Given the description of an element on the screen output the (x, y) to click on. 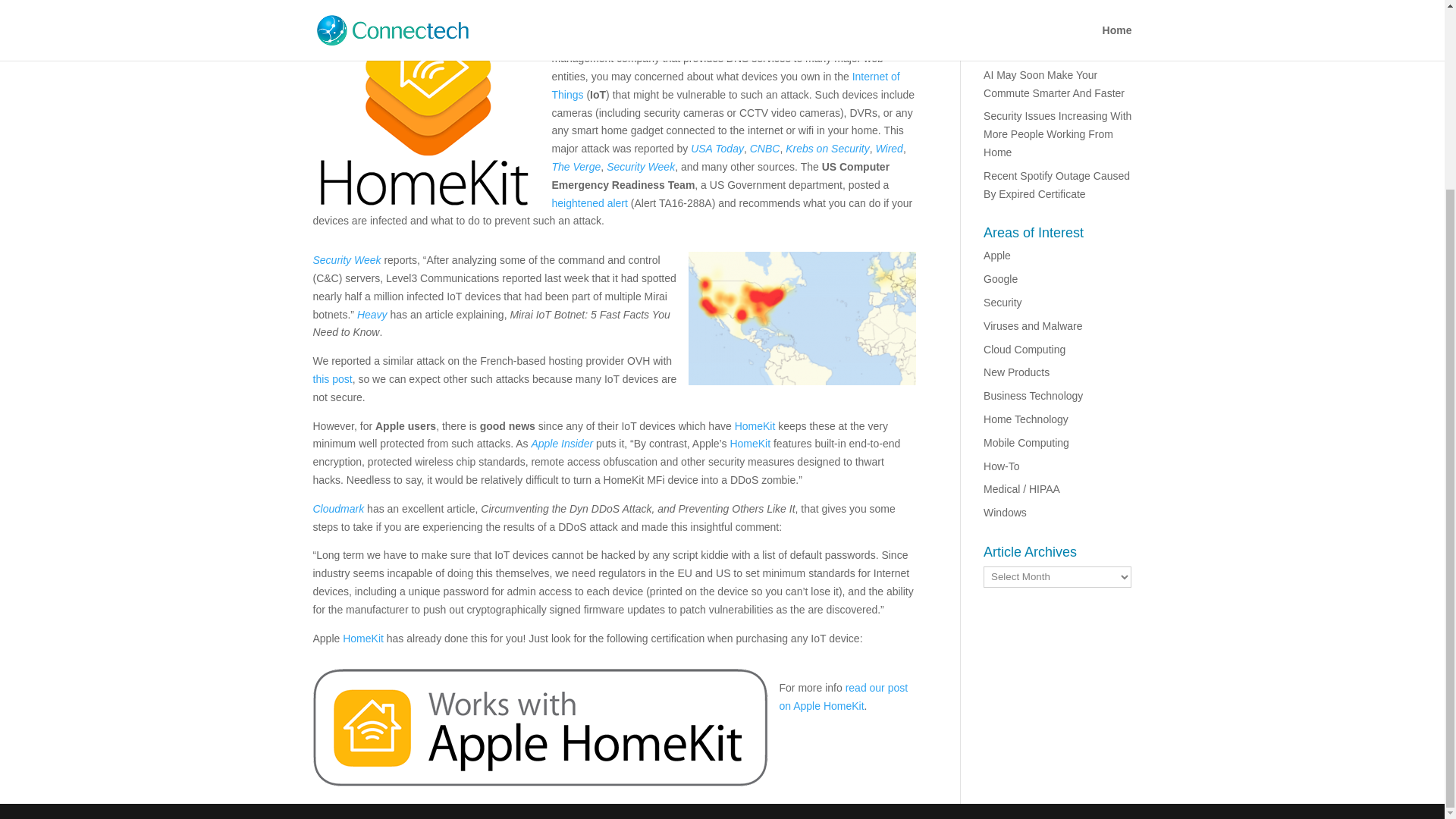
read our post on Apple HomeKit (843, 696)
Security Week (641, 166)
Krebs on Security (827, 148)
Google Turns Up The Speed on Chrome (1051, 8)
Security Week (346, 259)
AI May Soon Make Your Commute Smarter And Faster (1054, 83)
HomeKit (749, 443)
this post (332, 378)
The Verge (576, 166)
Google (1000, 278)
Recent Spotify Outage Caused By Expired Certificate (1056, 184)
Apple Insider (561, 443)
heightened alert (589, 203)
Wired (888, 148)
HomeKit (755, 426)
